Given the description of an element on the screen output the (x, y) to click on. 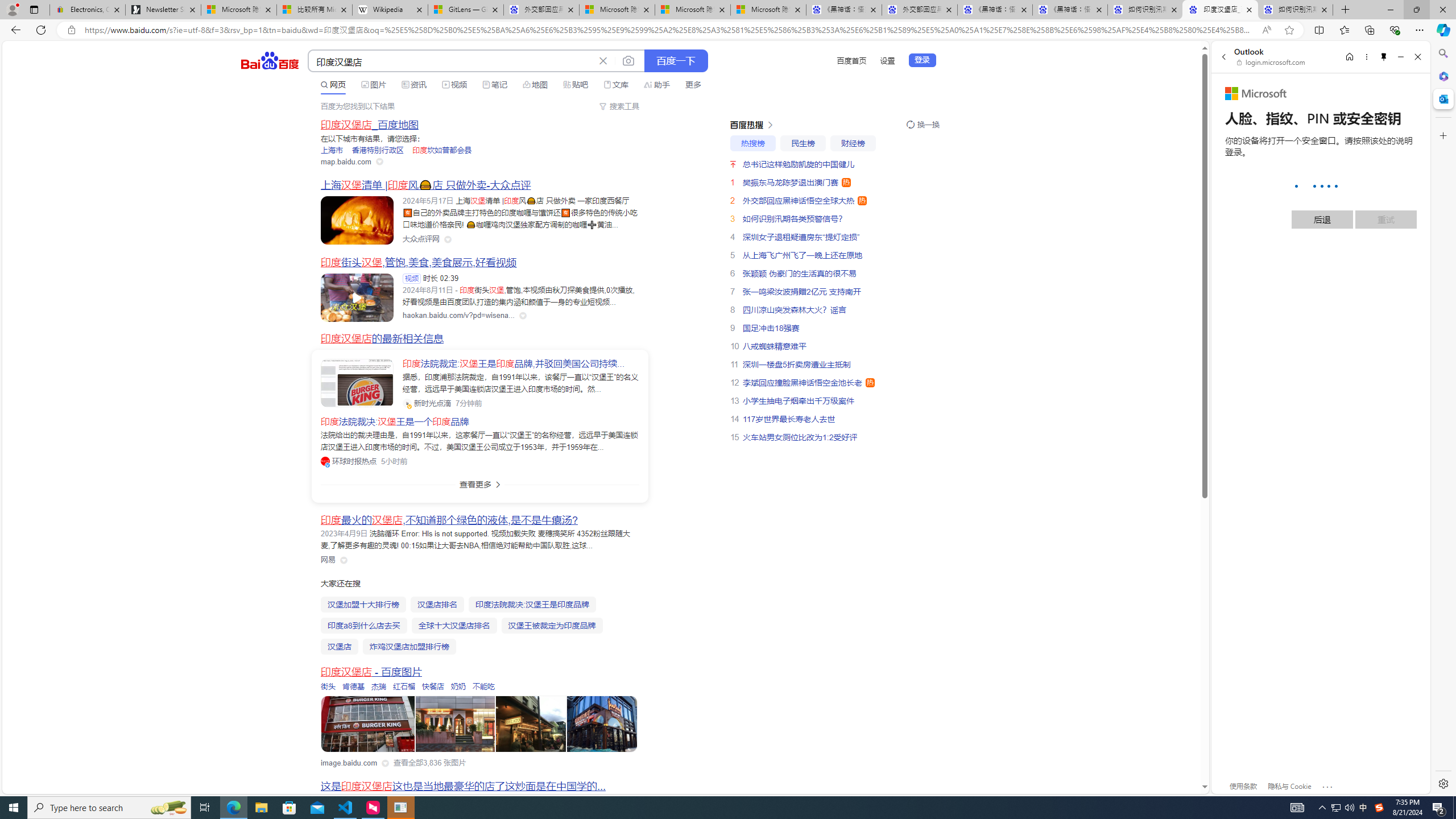
Microsoft (1255, 93)
